Given the description of an element on the screen output the (x, y) to click on. 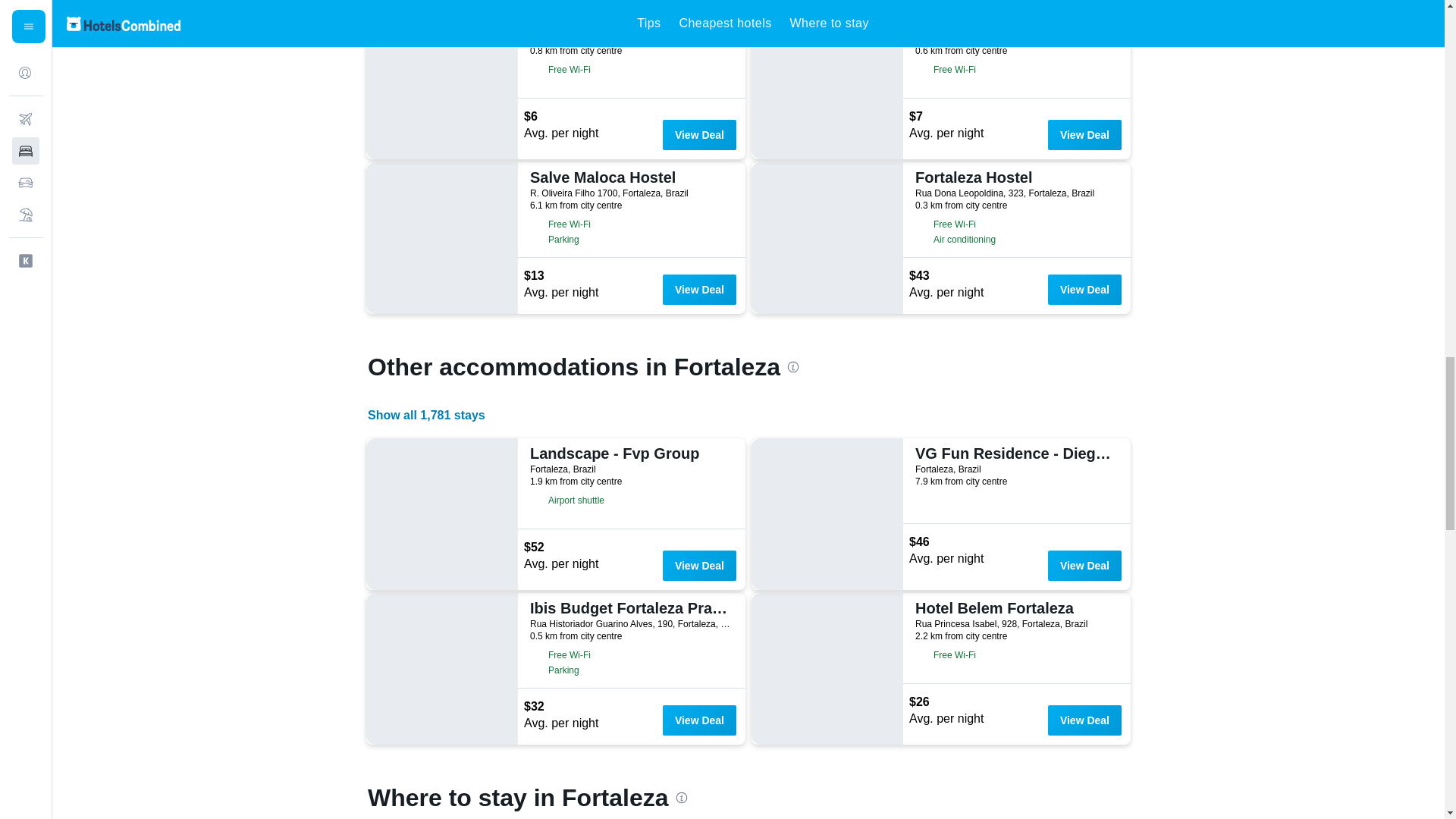
Salve Maloca Hostel (629, 177)
View Deal (1084, 289)
View Deal (1084, 134)
Landscape - Fvp Group (629, 453)
Show all 1,781 stays (426, 414)
Albergaria Hostel (629, 22)
View Deal (699, 134)
Fortaleza Hostel (1015, 177)
View Deal (699, 289)
